Given the description of an element on the screen output the (x, y) to click on. 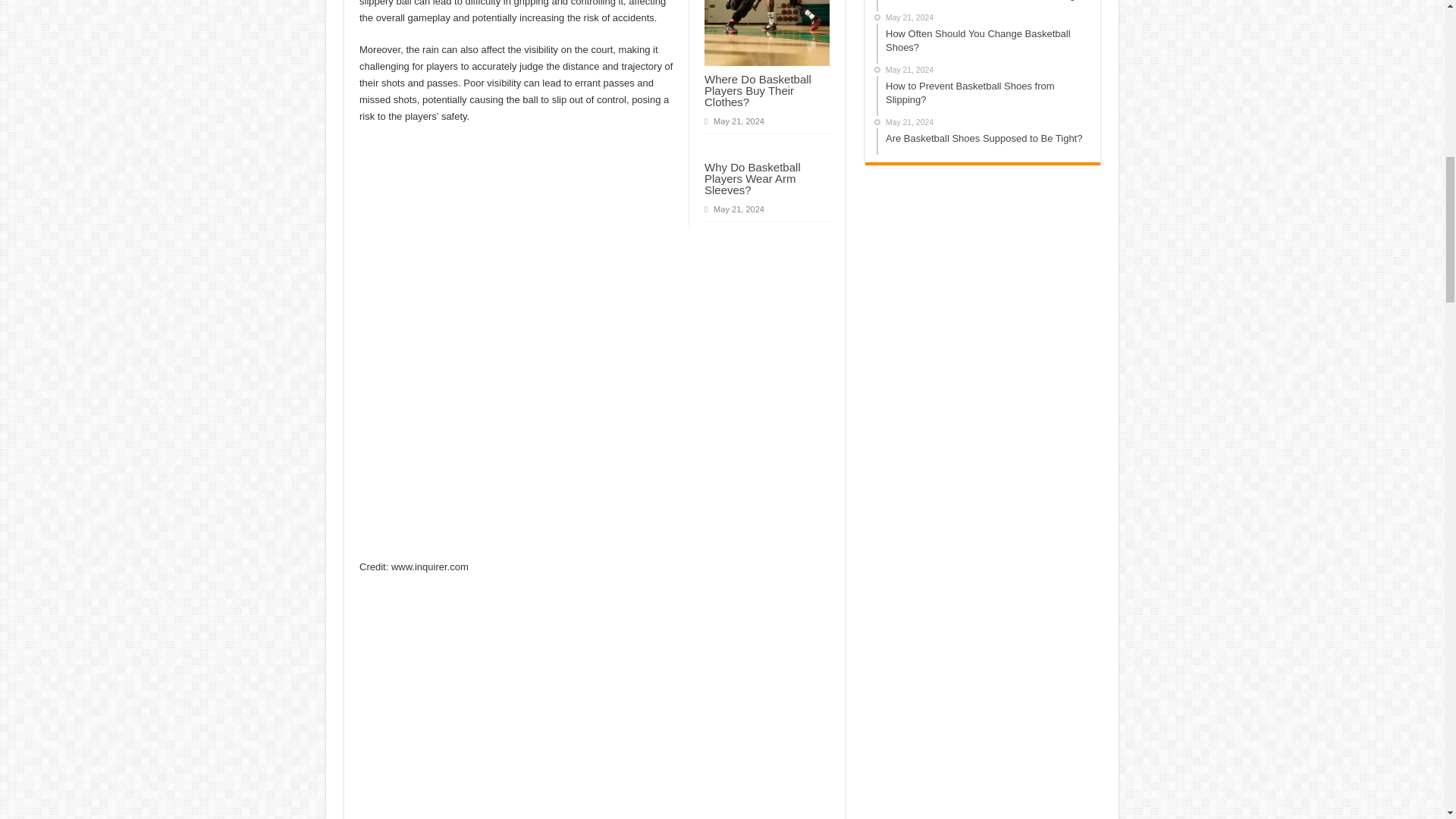
Why Do Basketball Players Wear Arm Sleeves? (752, 178)
Where Do Basketball Players Buy Their Clothes? (757, 90)
